Given the description of an element on the screen output the (x, y) to click on. 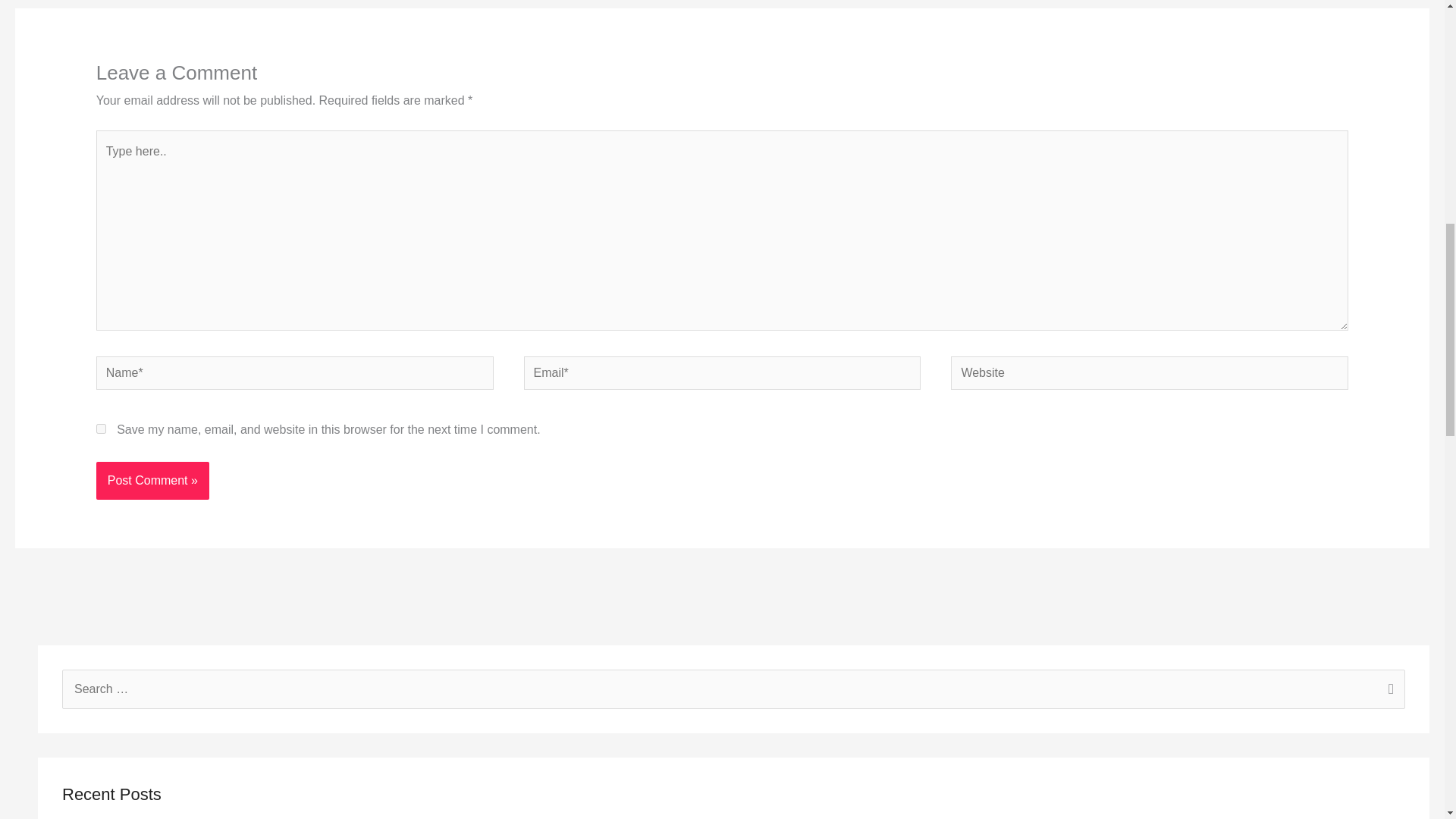
yes (101, 429)
